Given the description of an element on the screen output the (x, y) to click on. 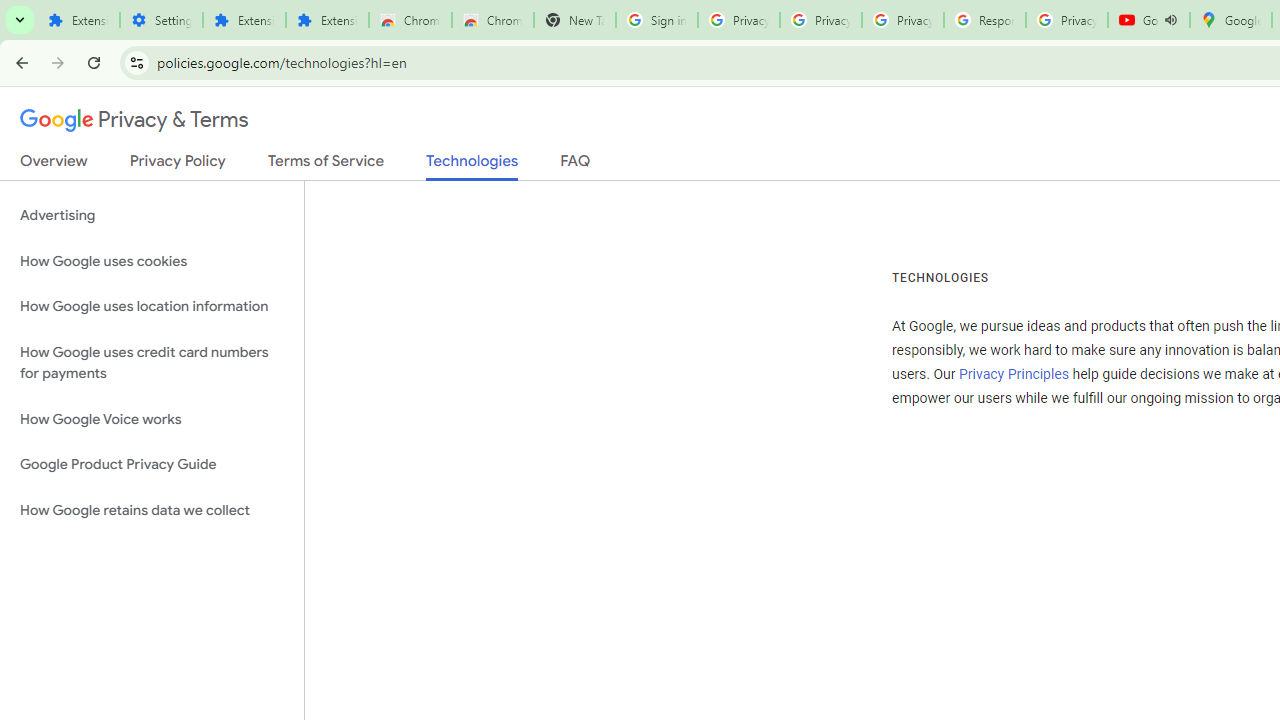
Settings (161, 20)
Sign in - Google Accounts (656, 20)
Extensions (326, 20)
Mute tab (1170, 20)
New Tab (574, 20)
How Google uses cookies (152, 261)
Advertising (152, 215)
How Google uses location information (152, 306)
